Given the description of an element on the screen output the (x, y) to click on. 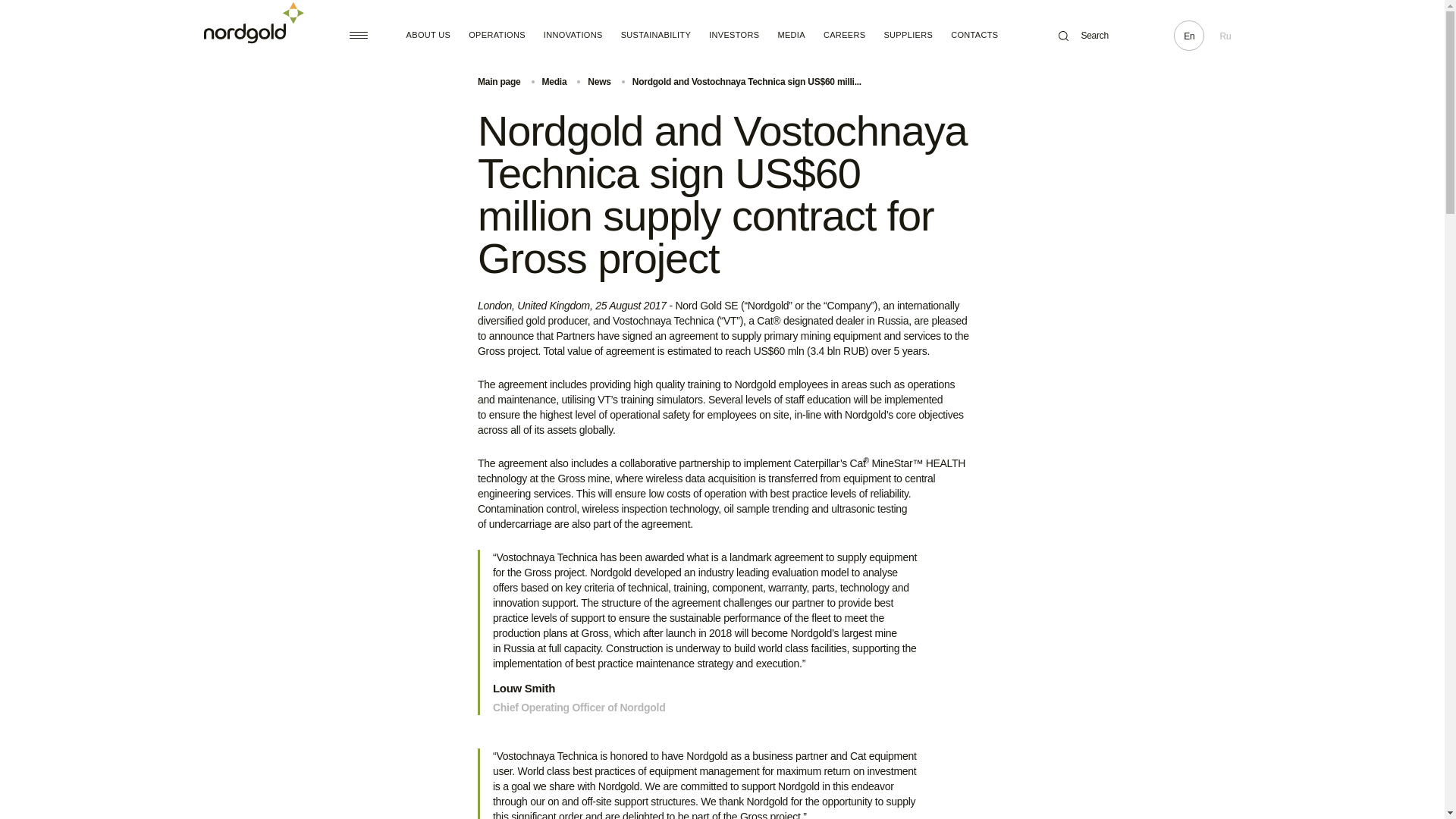
OPERATIONS (496, 35)
ABOUT US (428, 35)
INNOVATIONS (572, 35)
